Given the description of an element on the screen output the (x, y) to click on. 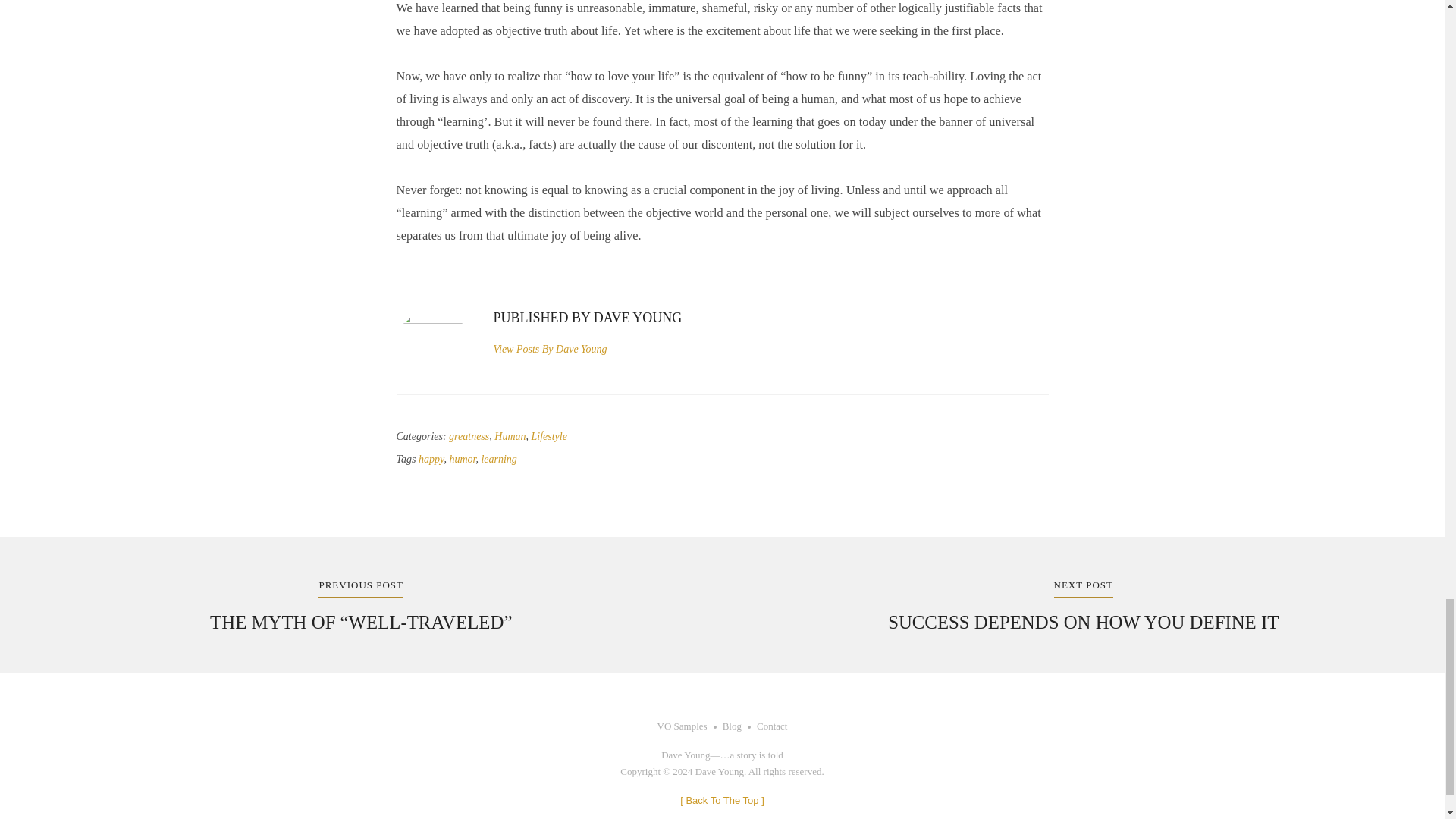
humor (462, 459)
VO Samples (682, 726)
learning (498, 459)
Contact (772, 726)
View Posts By Dave Young (550, 348)
greatness (468, 436)
Lifestyle (548, 436)
Blog (1083, 605)
Human (731, 726)
